Given the description of an element on the screen output the (x, y) to click on. 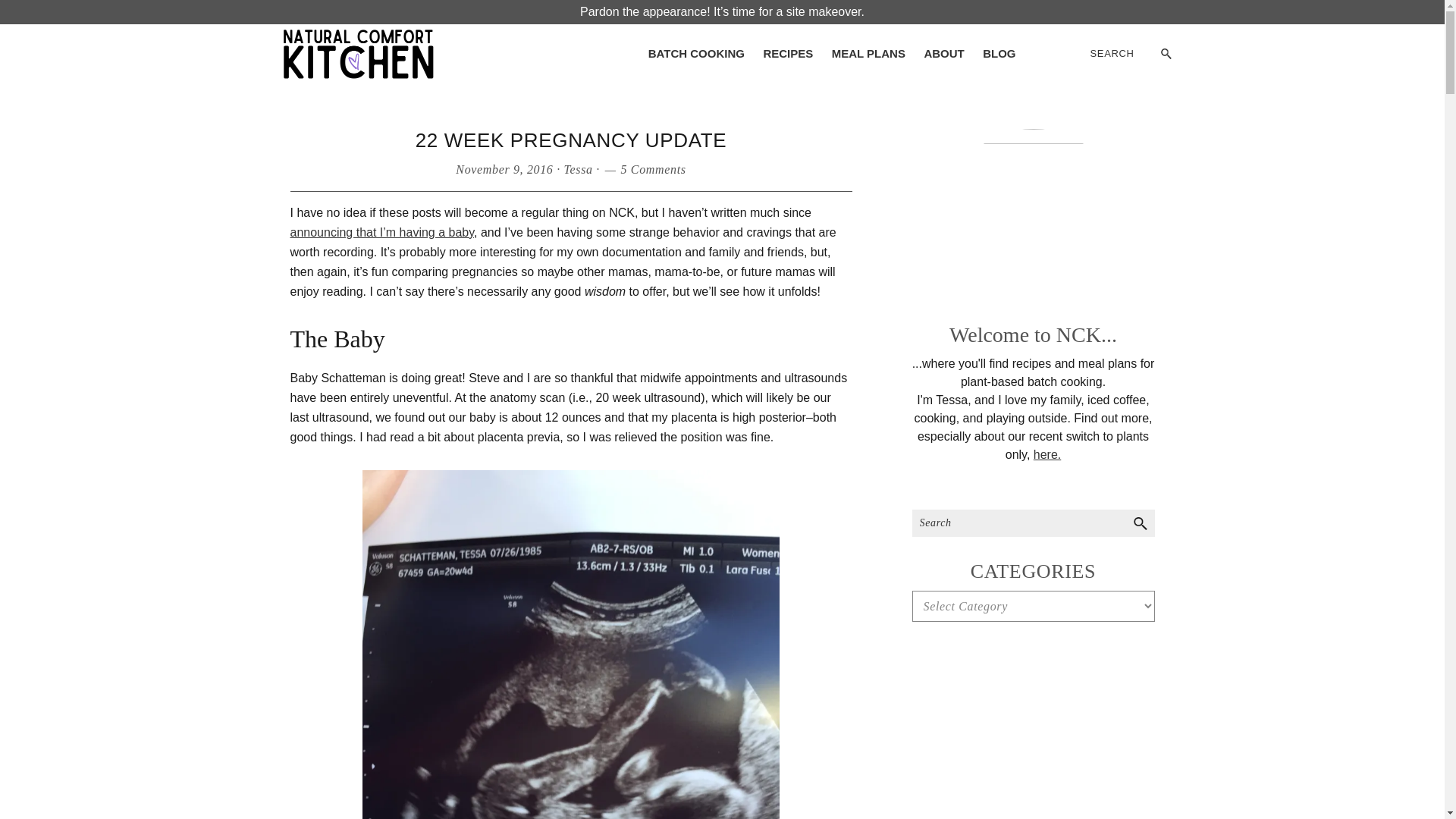
RECIPES (788, 53)
ABOUT (943, 53)
MEAL PLANS (868, 53)
BLOG (999, 53)
BATCH COOKING (696, 53)
